Given the description of an element on the screen output the (x, y) to click on. 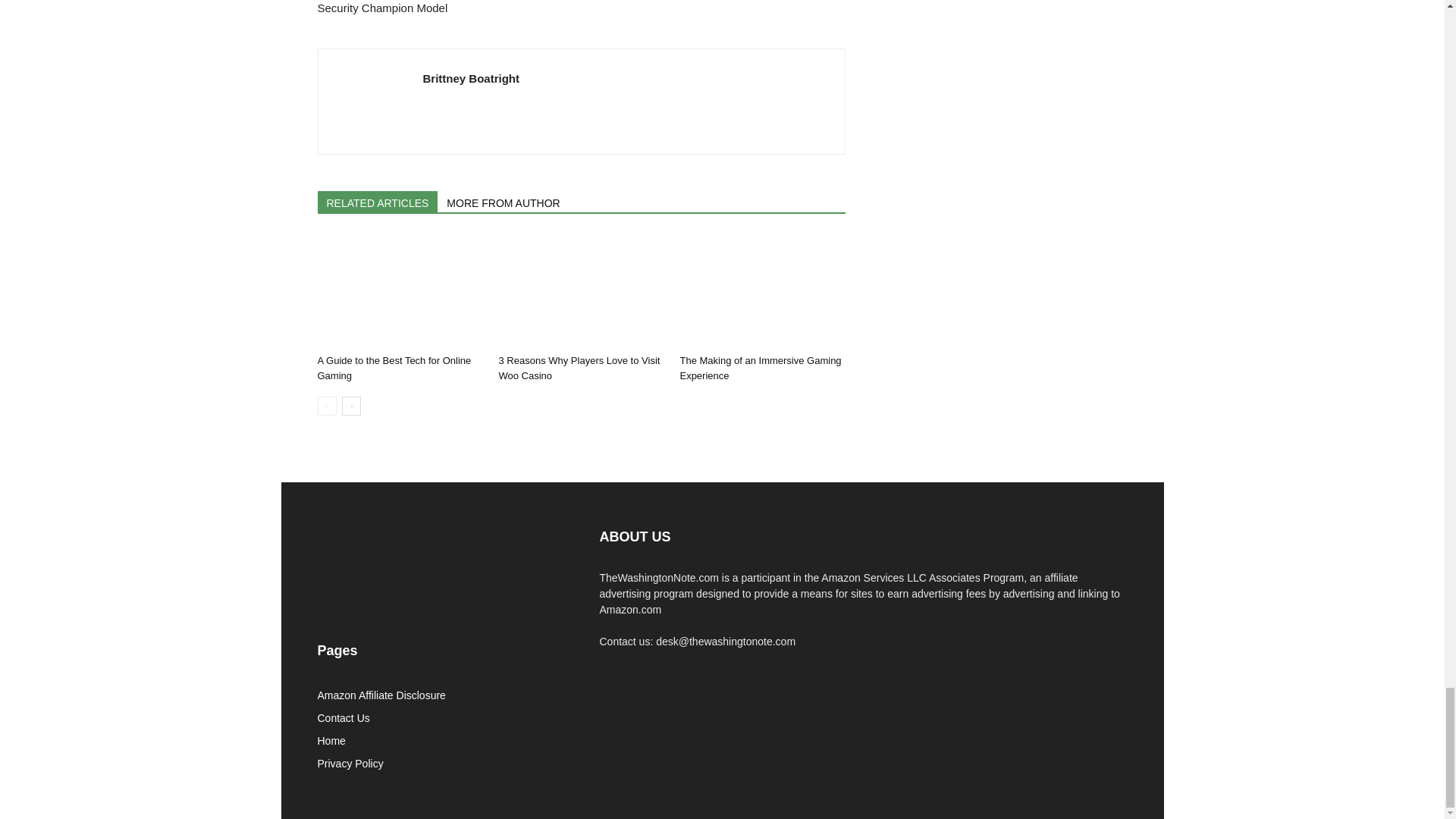
The Making of an Immersive Gaming Experience (761, 291)
3 Reasons Why Players Love to Visit Woo Casino (578, 367)
The Making of an Immersive Gaming Experience (760, 367)
A Guide to the Best Tech for Online Gaming (393, 367)
A Guide to the Best Tech for Online Gaming (399, 291)
3 Reasons Why Players Love to Visit Woo Casino (580, 291)
